Given the description of an element on the screen output the (x, y) to click on. 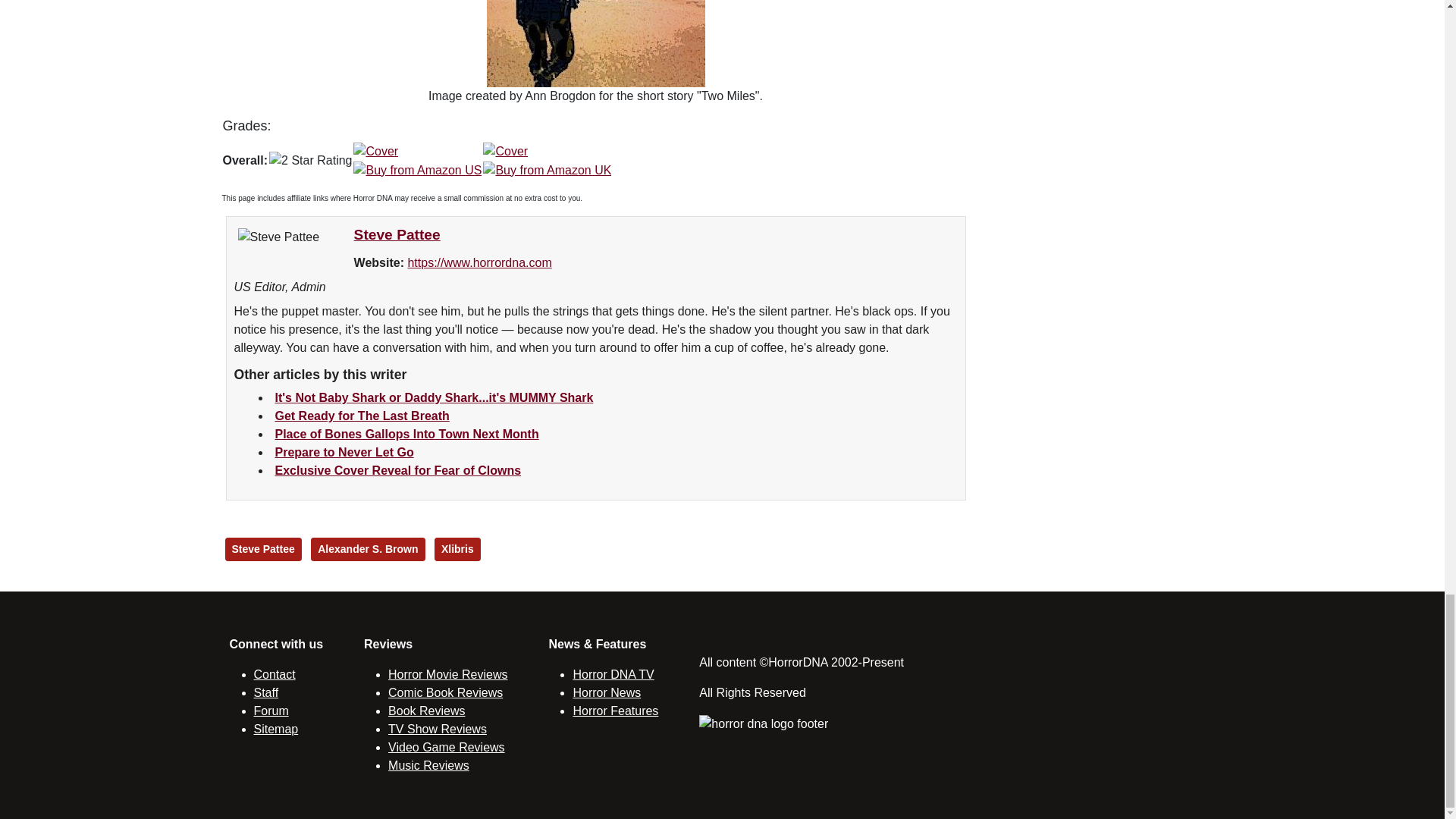
Exclusive Cover Reveal for Fear of Clowns (398, 470)
Place of Bones Gallops Into Town Next Month (406, 433)
Buy at Amazon UK. (547, 160)
It's Not Baby Shark or Daddy Shark...it's MUMMY Shark (433, 397)
Get Ready for The Last Breath (361, 415)
Place of Bones Gallops Into Town Next Month (406, 433)
Prepare to Never Let Go (344, 451)
Exclusive Cover Reveal for Fear of Clowns (398, 470)
Sitemap (275, 728)
Staff (265, 692)
Steve Pattee (397, 234)
Forum (270, 710)
Prepare to Never Let Go (344, 451)
It's Not Baby Shark or Daddy Shark...it's MUMMY Shark (433, 397)
Contact (274, 674)
